Given the description of an element on the screen output the (x, y) to click on. 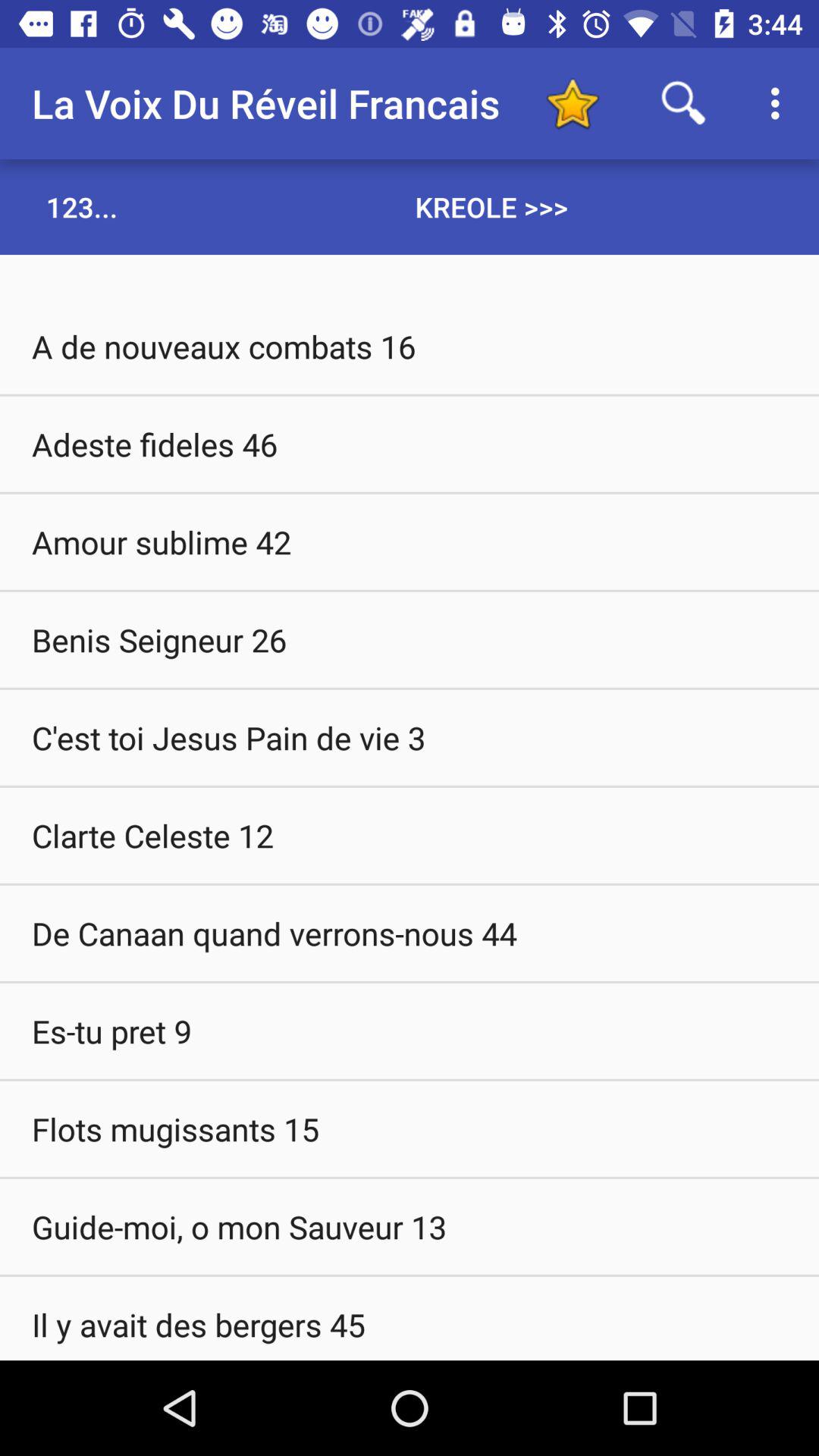
turn on icon above the a de nouveaux icon (81, 206)
